Given the description of an element on the screen output the (x, y) to click on. 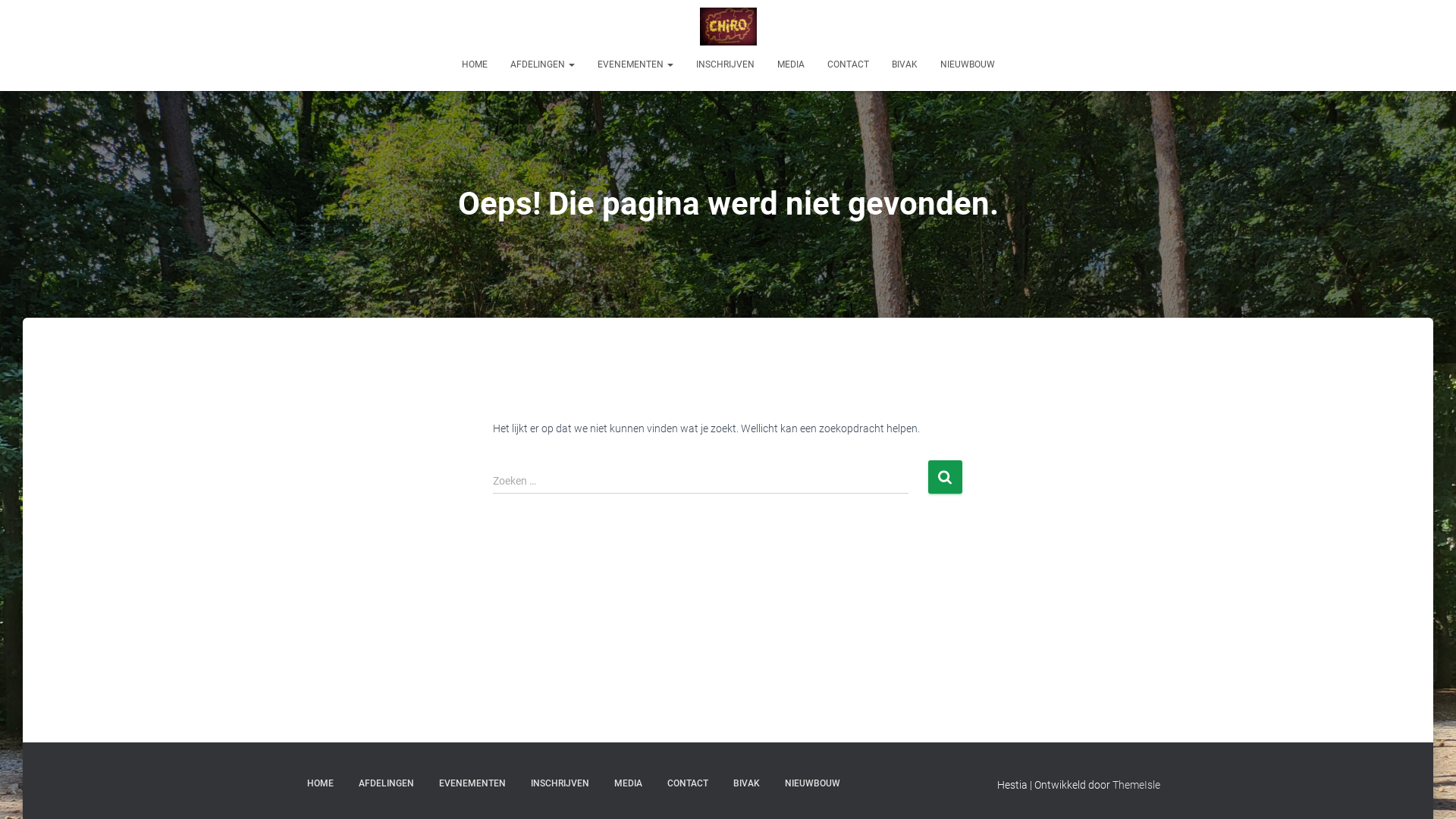
NIEUWBOUW Element type: text (812, 783)
CONTACT Element type: text (687, 783)
EVENEMENTEN Element type: text (472, 783)
HOME Element type: text (474, 64)
INSCHRIJVEN Element type: text (724, 64)
AFDELINGEN Element type: text (386, 783)
BIVAK Element type: text (903, 64)
MEDIA Element type: text (790, 64)
BIVAK Element type: text (746, 783)
MEDIA Element type: text (627, 783)
Zoeken Element type: text (945, 476)
NIEUWBOUW Element type: text (966, 64)
INSCHRIJVEN Element type: text (559, 783)
AFDELINGEN Element type: text (542, 64)
CONTACT Element type: text (847, 64)
Chiro Houtem Element type: hover (728, 26)
EVENEMENTEN Element type: text (634, 64)
ThemeIsle Element type: text (1136, 784)
HOME Element type: text (320, 783)
